Given the description of an element on the screen output the (x, y) to click on. 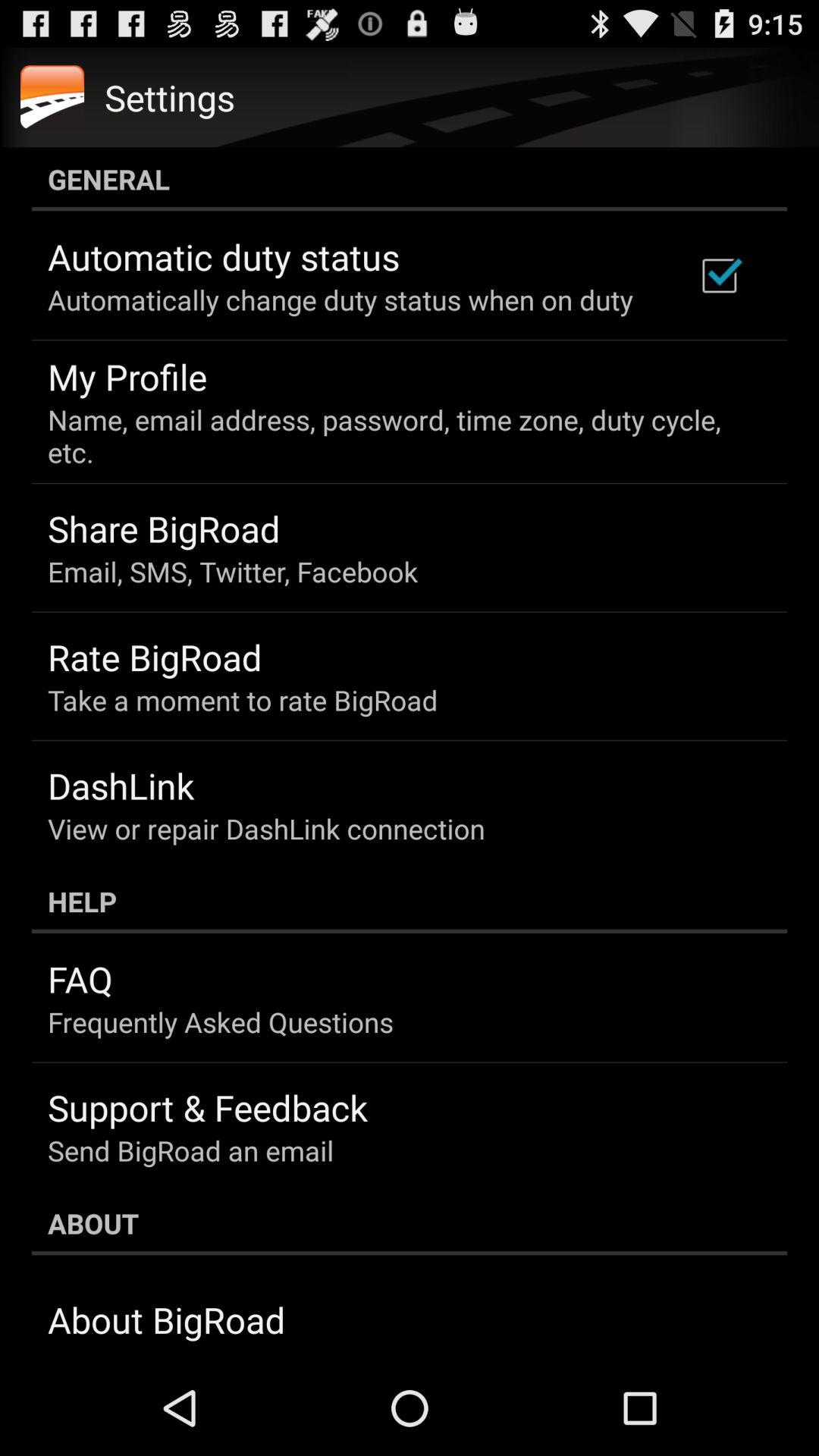
turn off app below the automatically change duty app (127, 376)
